Given the description of an element on the screen output the (x, y) to click on. 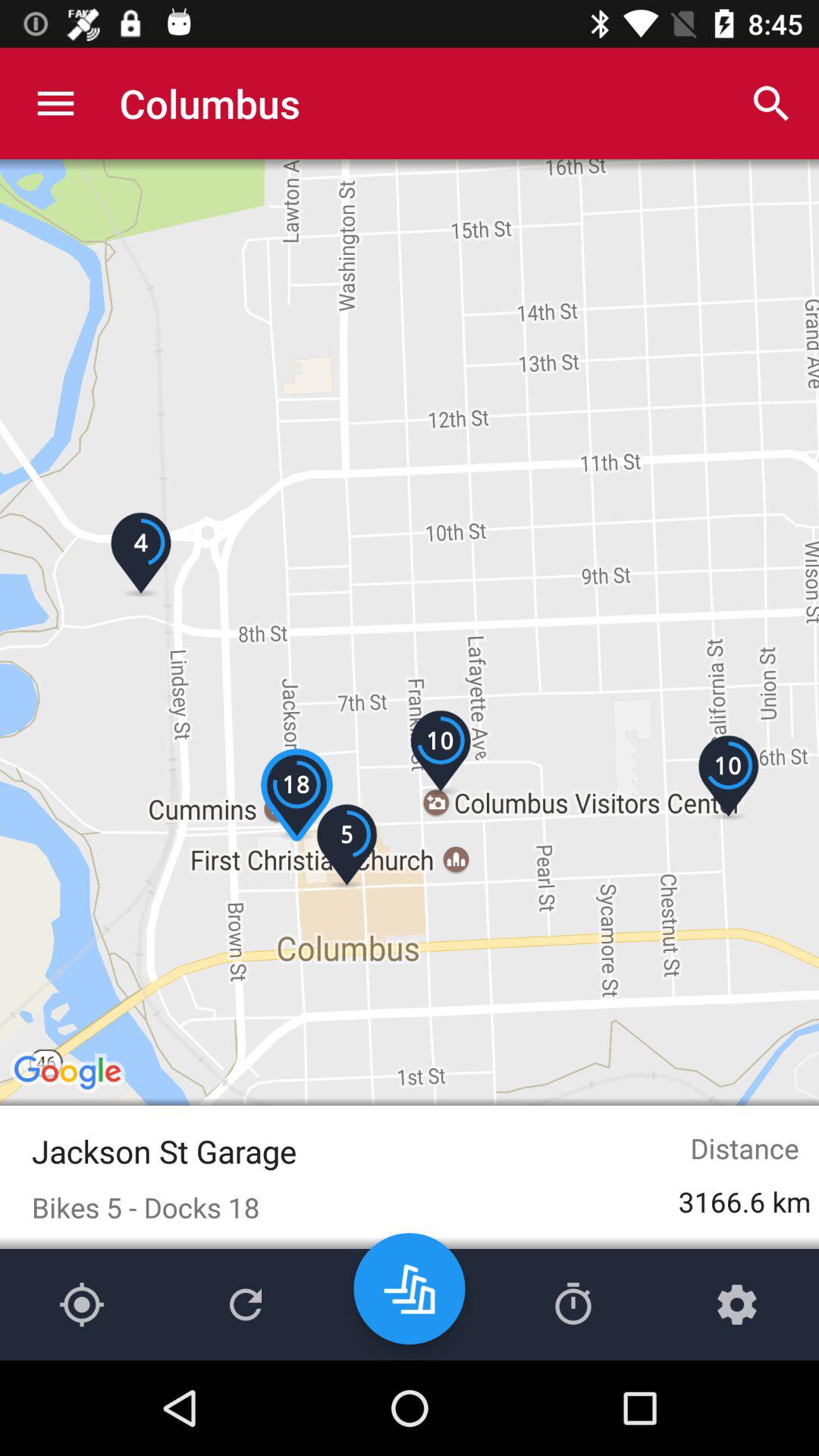
click on the icon beside refresh icon at the bottom of the page (409, 1288)
